Given the description of an element on the screen output the (x, y) to click on. 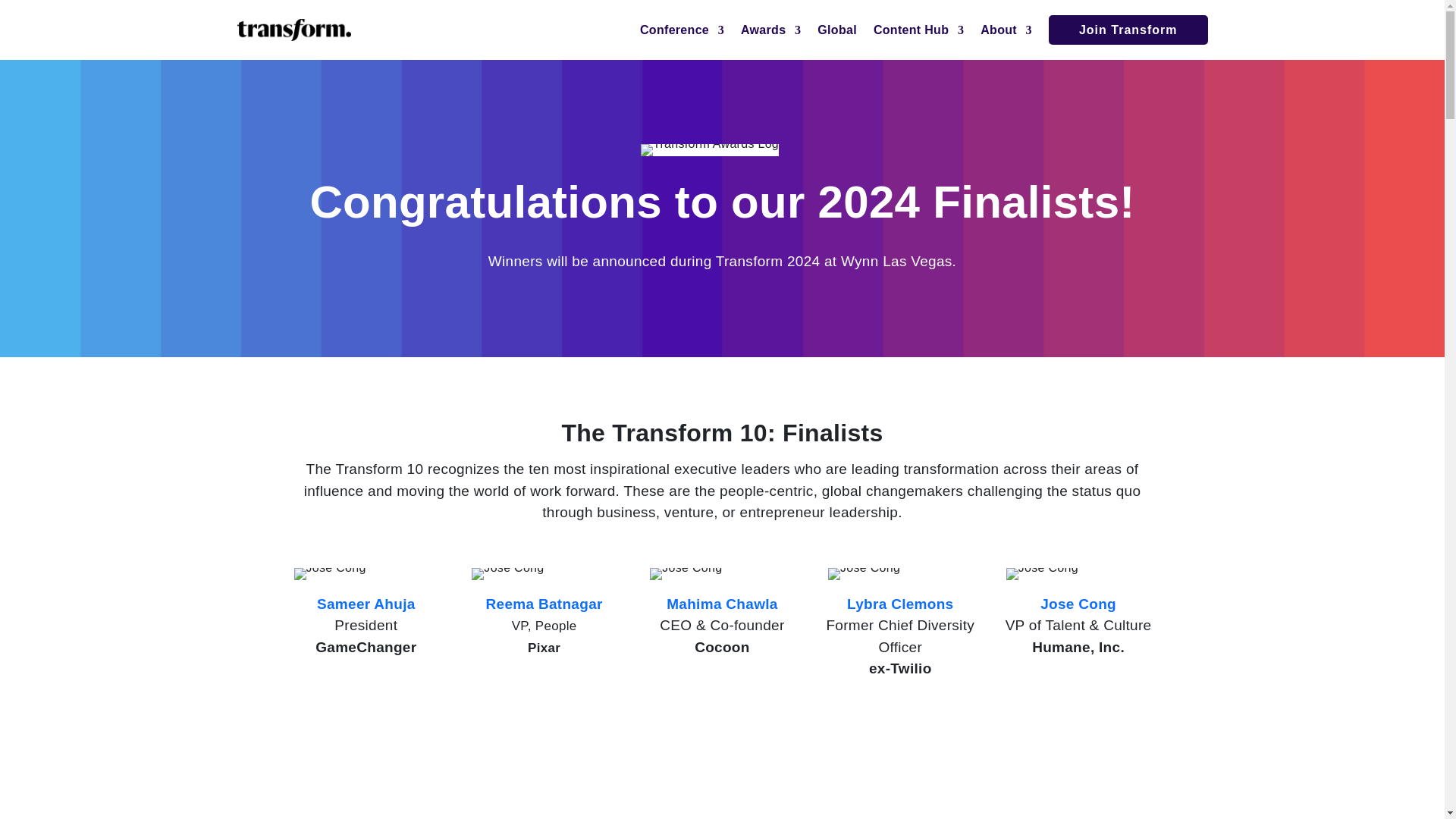
hrt-new-logo (292, 29)
Shay McAllister (900, 770)
Jose Cong (1042, 573)
Shay McAllister (721, 770)
Shay McAllister (1078, 770)
Jose Cong (685, 573)
Global (836, 32)
Jose Cong (863, 573)
About (1005, 32)
Content Hub (918, 32)
Conference (681, 32)
Shay McAllister (366, 770)
t-awards reversed (709, 150)
Join Transform (1128, 30)
Jose Cong (330, 573)
